Given the description of an element on the screen output the (x, y) to click on. 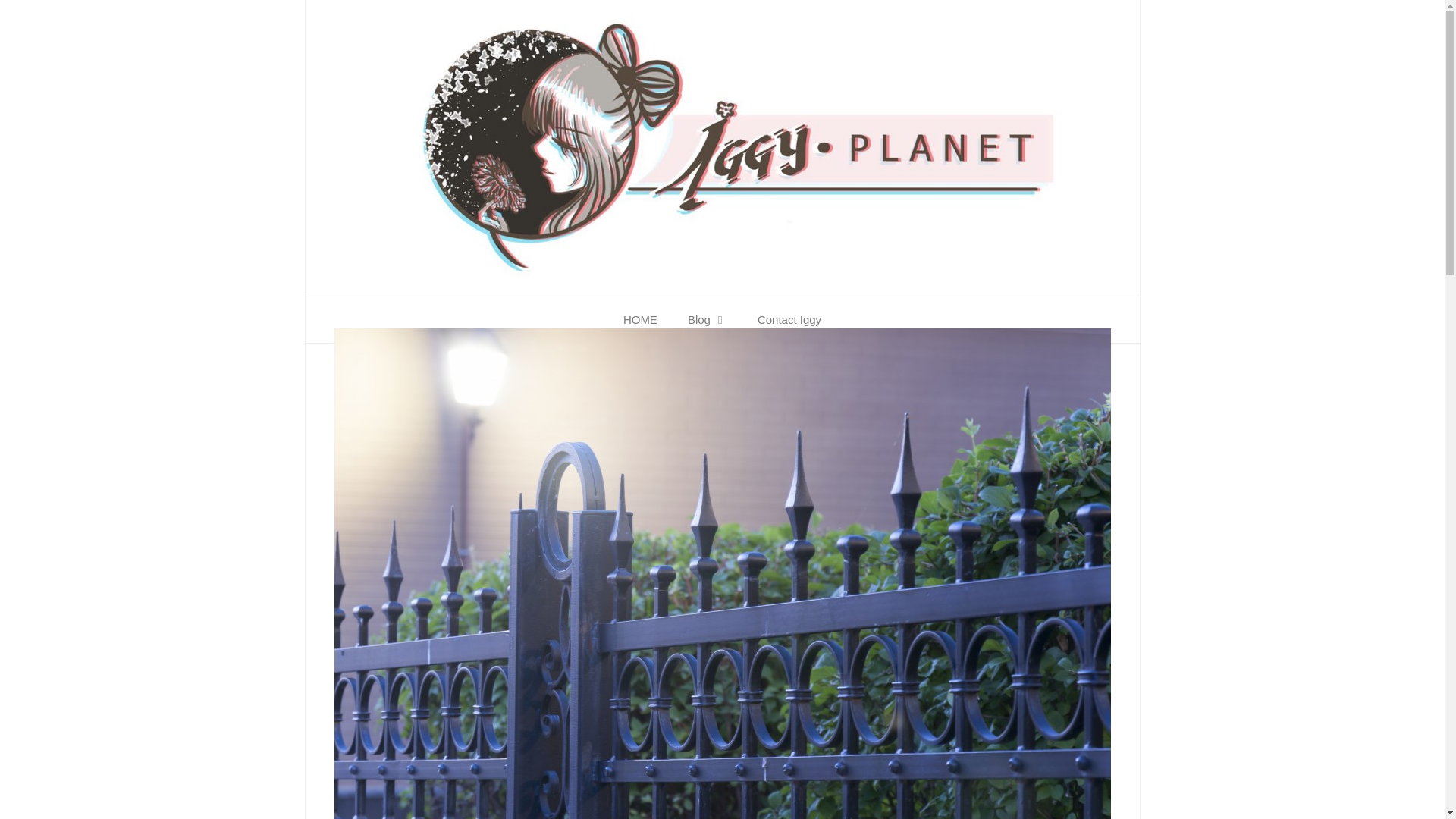
Blog (707, 320)
Contact Iggy (788, 320)
HOME (640, 320)
